Given the description of an element on the screen output the (x, y) to click on. 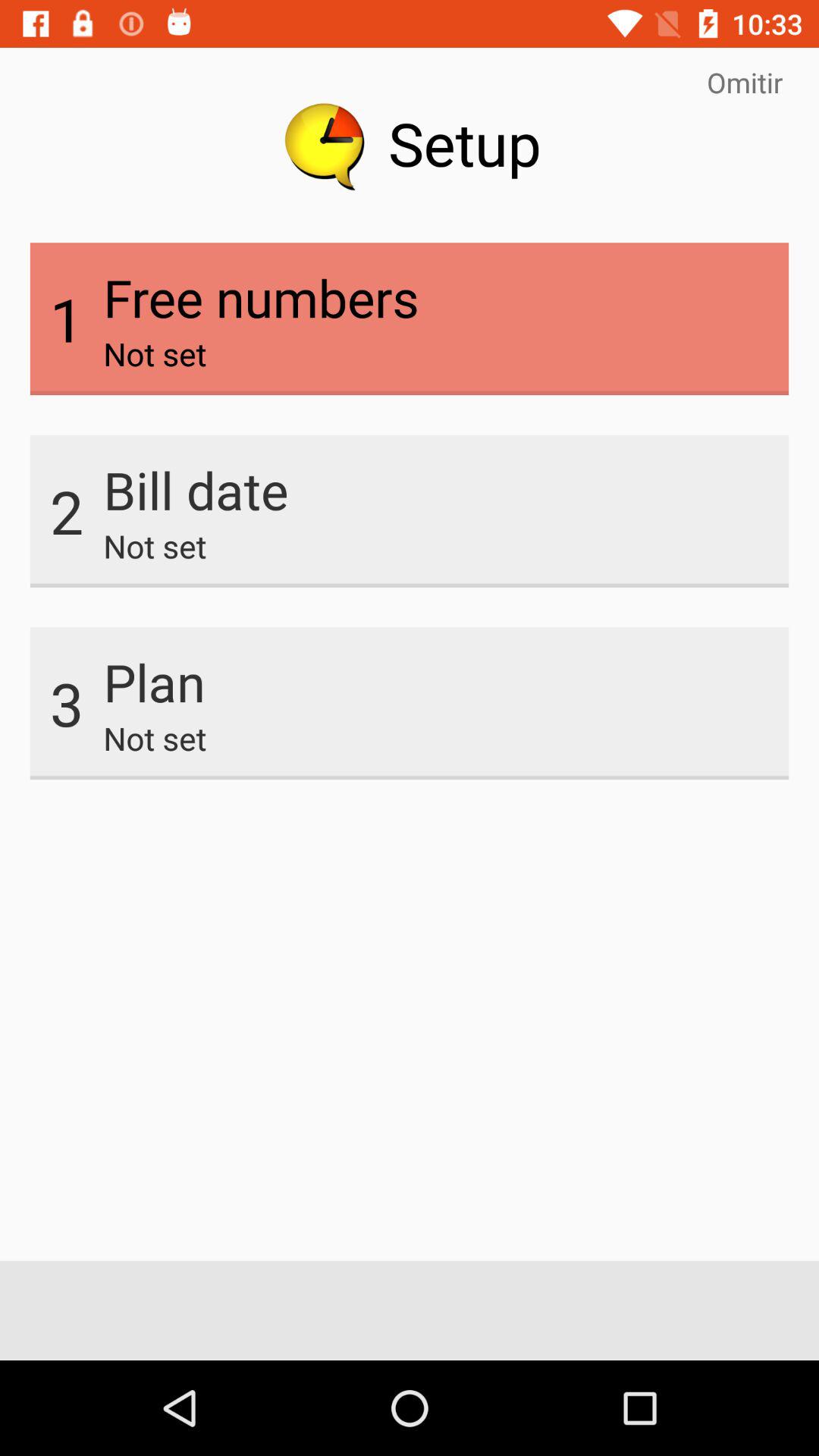
press item next to the setup item (744, 82)
